Given the description of an element on the screen output the (x, y) to click on. 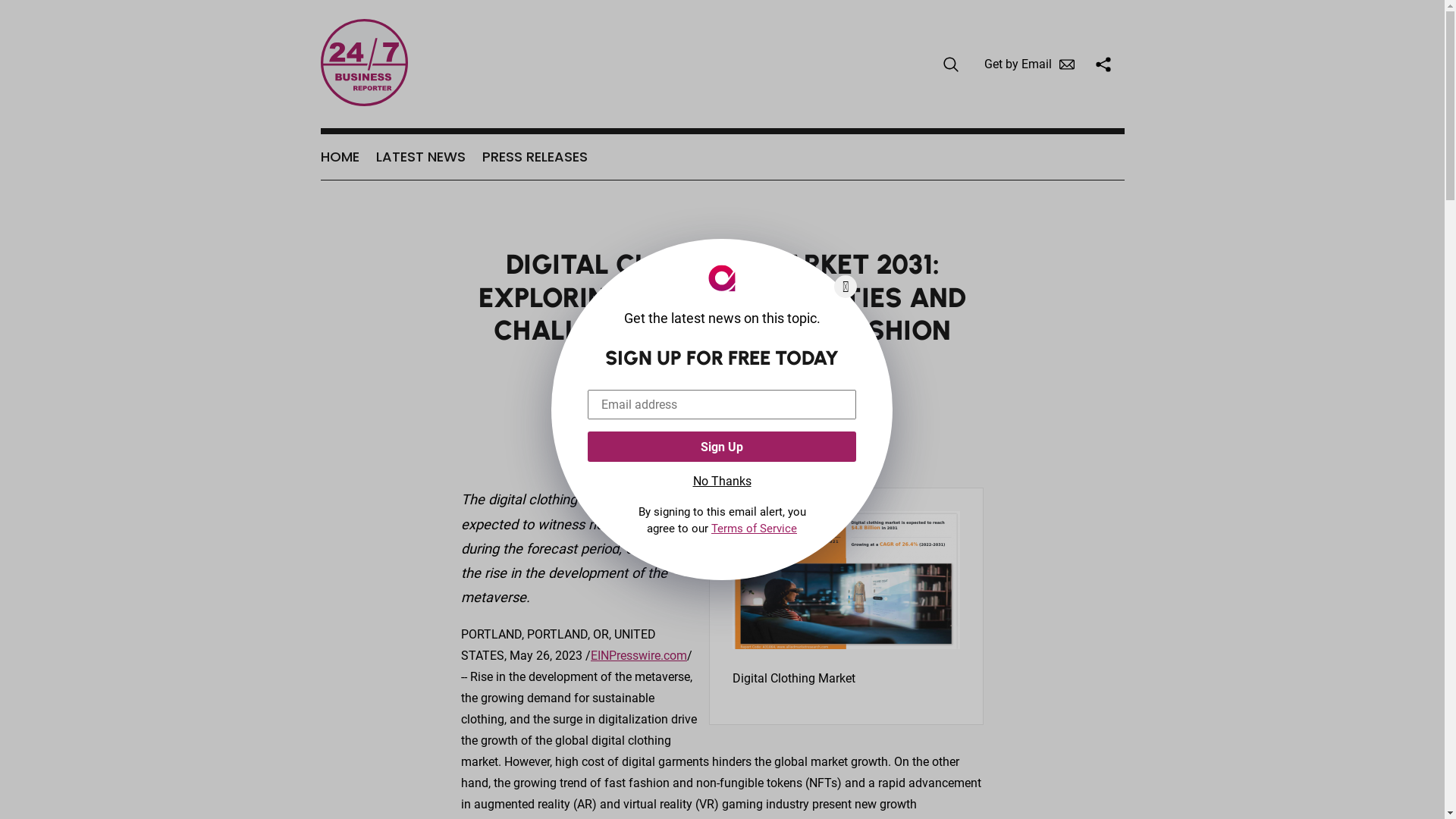
PRESS RELEASES Element type: text (534, 156)
HOME Element type: text (339, 156)
EINPresswire.com Element type: text (638, 655)
LATEST NEWS Element type: text (420, 156)
